Given the description of an element on the screen output the (x, y) to click on. 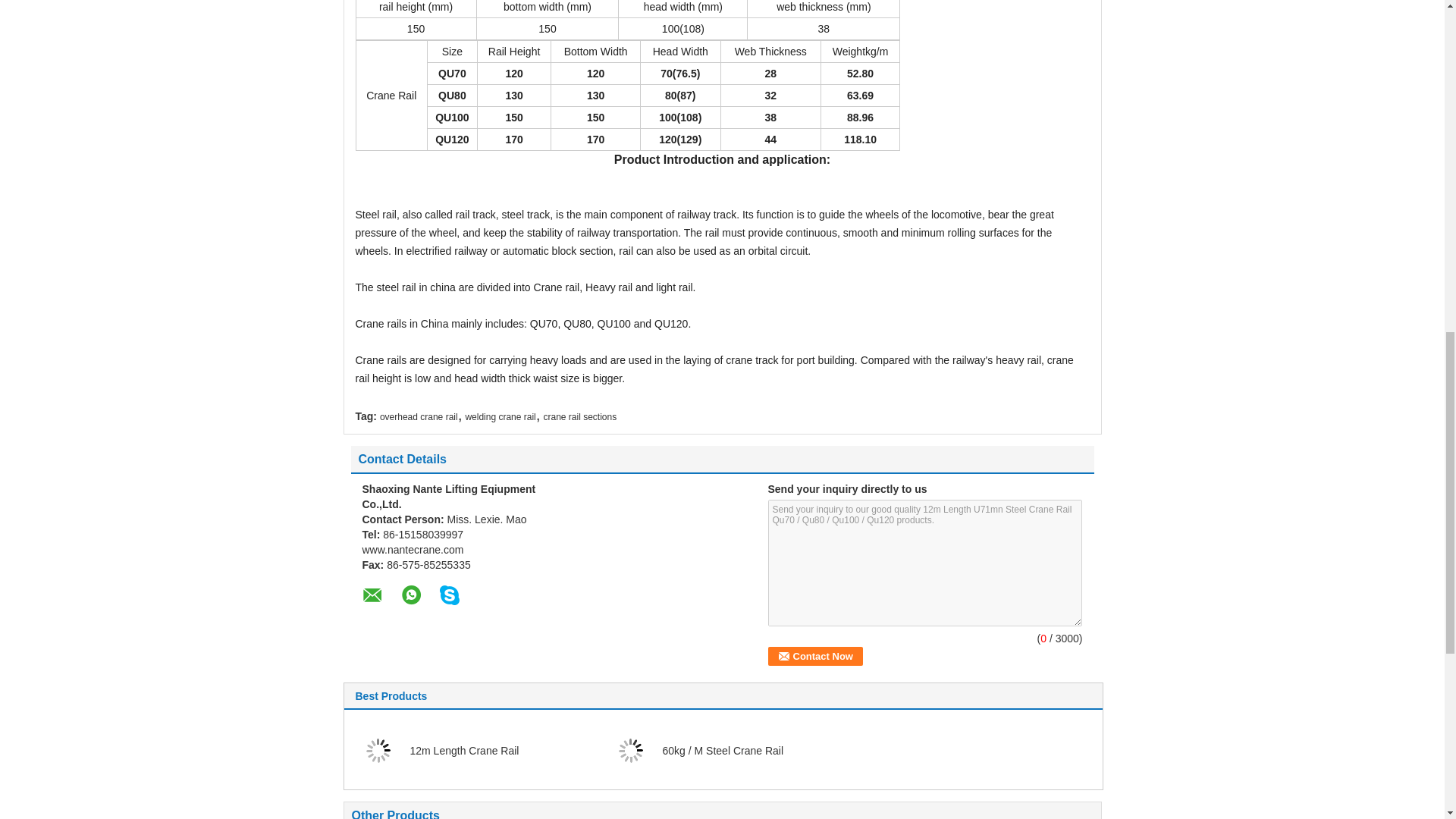
Contact Now (814, 656)
